Given the description of an element on the screen output the (x, y) to click on. 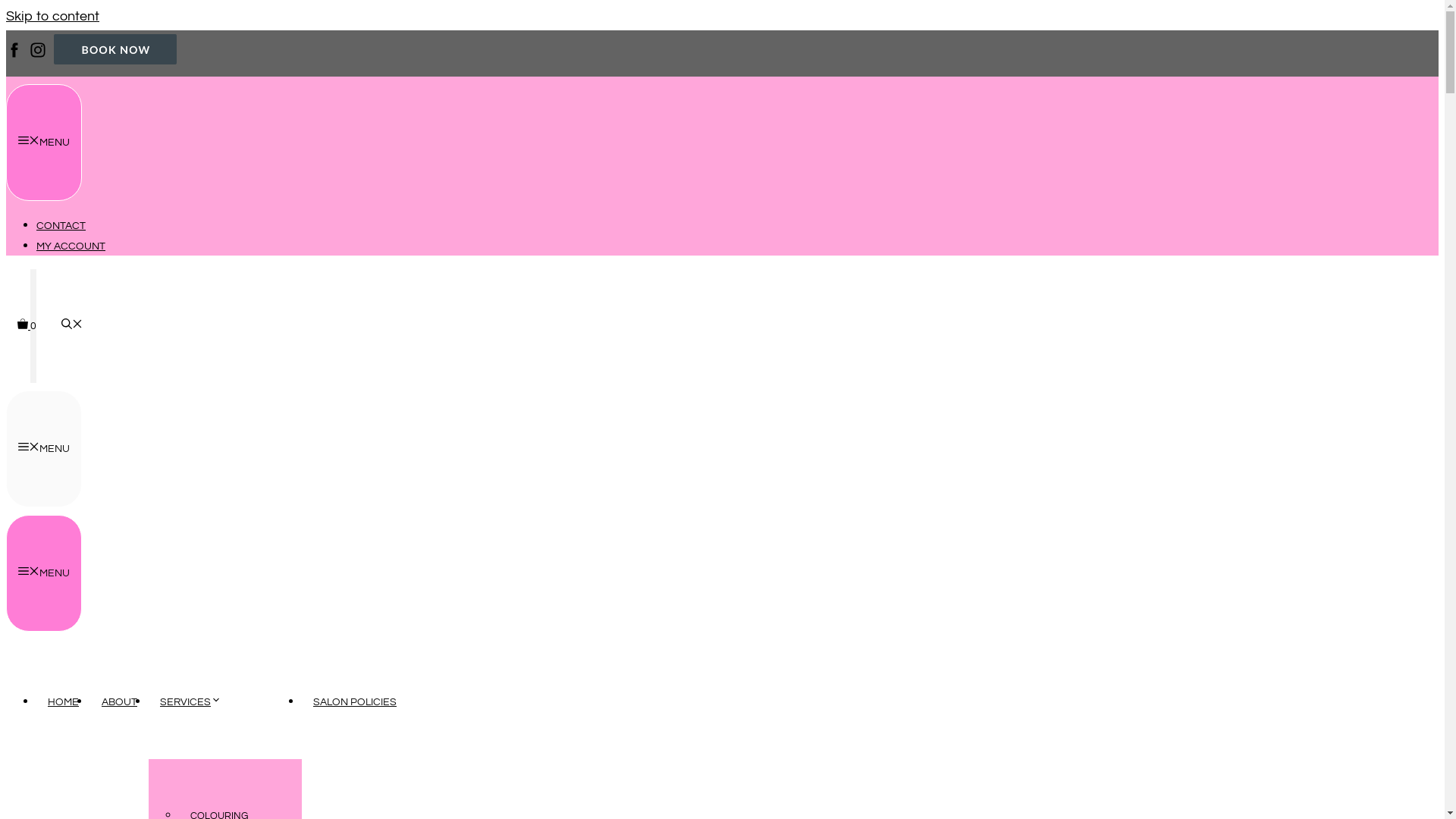
CONTACT Element type: text (60, 225)
MY ACCOUNT Element type: text (70, 246)
MENU Element type: text (43, 448)
SERVICES Element type: text (196, 701)
SALON POLICIES Element type: text (354, 701)
HOME Element type: text (63, 701)
ABOUT Element type: text (119, 701)
Hairko Studio Element type: hover (721, 279)
MENU Element type: text (43, 572)
Skip to content Element type: text (52, 16)
0 Element type: text (26, 325)
MENU Element type: text (43, 142)
